Given the description of an element on the screen output the (x, y) to click on. 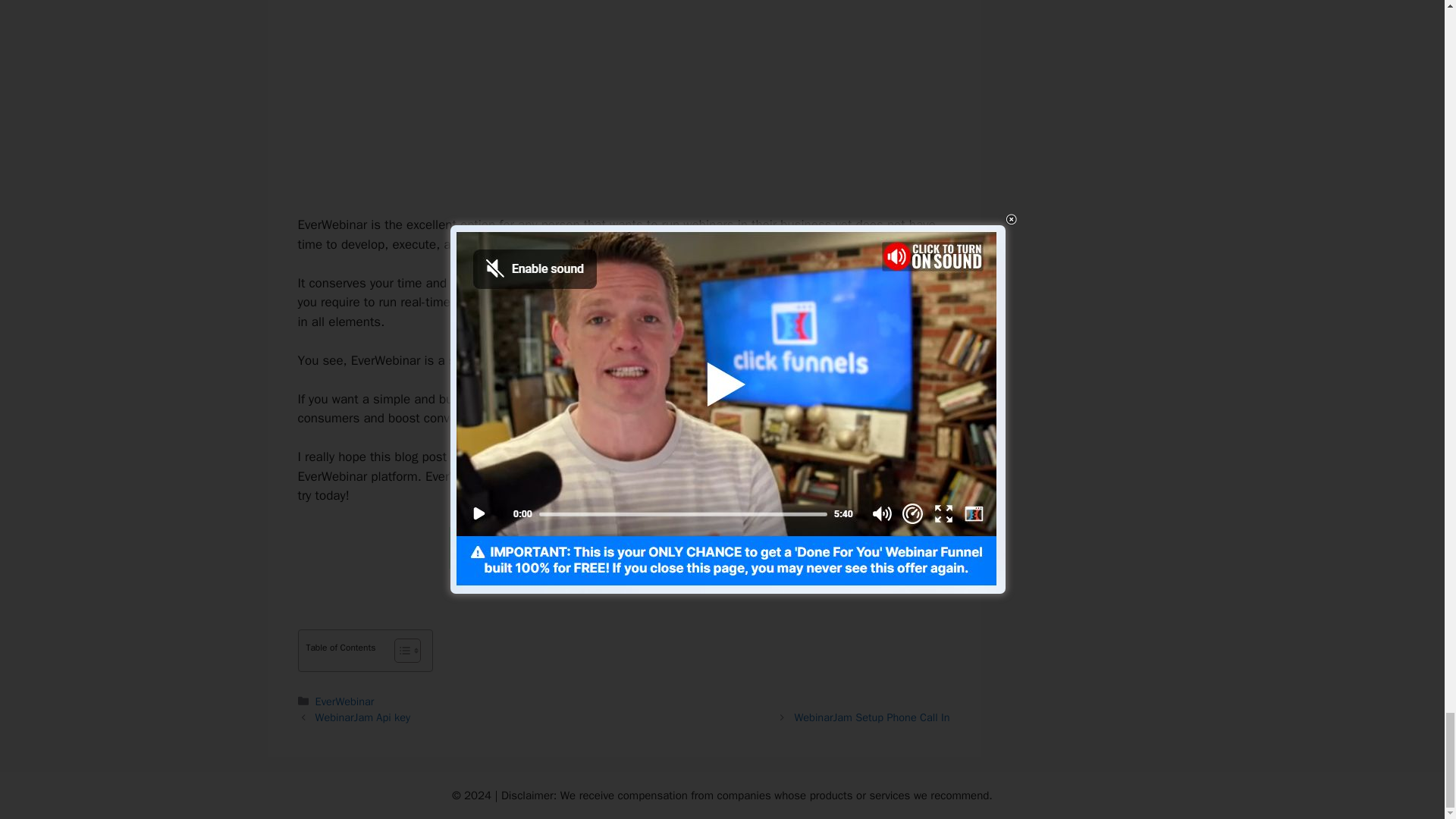
Grab Your Free EverWebinar Account Now (622, 547)
WebinarJam Api key (362, 716)
EverWebinar (344, 701)
webinar presentations (584, 302)
WebinarJam Setup Phone Call In (872, 716)
